Given the description of an element on the screen output the (x, y) to click on. 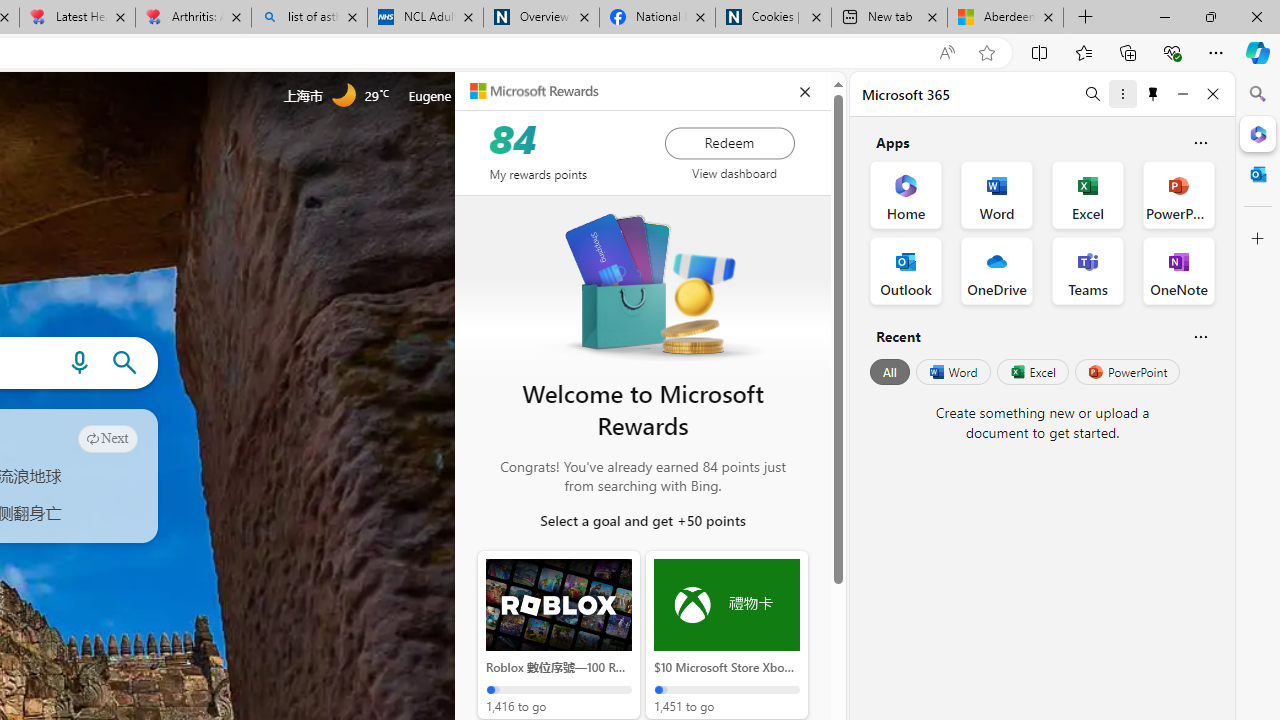
Excel (1031, 372)
Unpin side pane (1153, 93)
list of asthma inhalers uk - Search (309, 17)
Arthritis: Ask Health Professionals (192, 17)
Excel Office App (1087, 194)
